Given the description of an element on the screen output the (x, y) to click on. 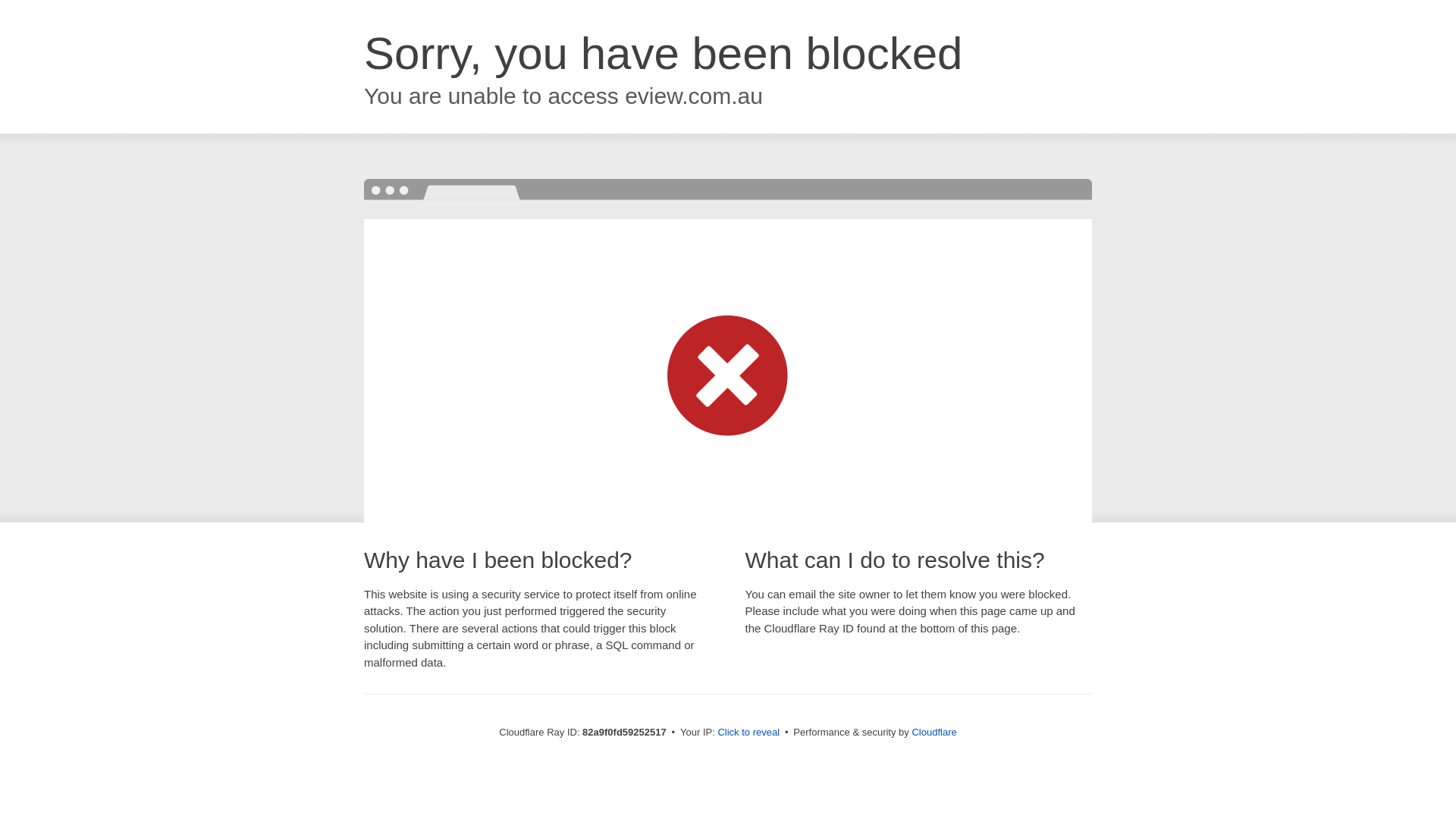
Cloudflare Element type: text (933, 731)
Click to reveal Element type: text (748, 732)
